Given the description of an element on the screen output the (x, y) to click on. 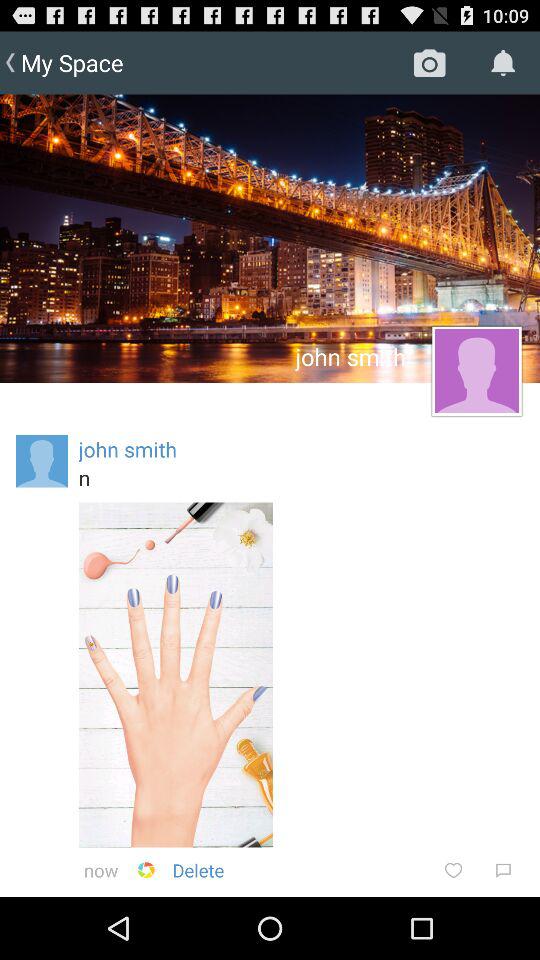
open the app next to the now item (146, 870)
